Given the description of an element on the screen output the (x, y) to click on. 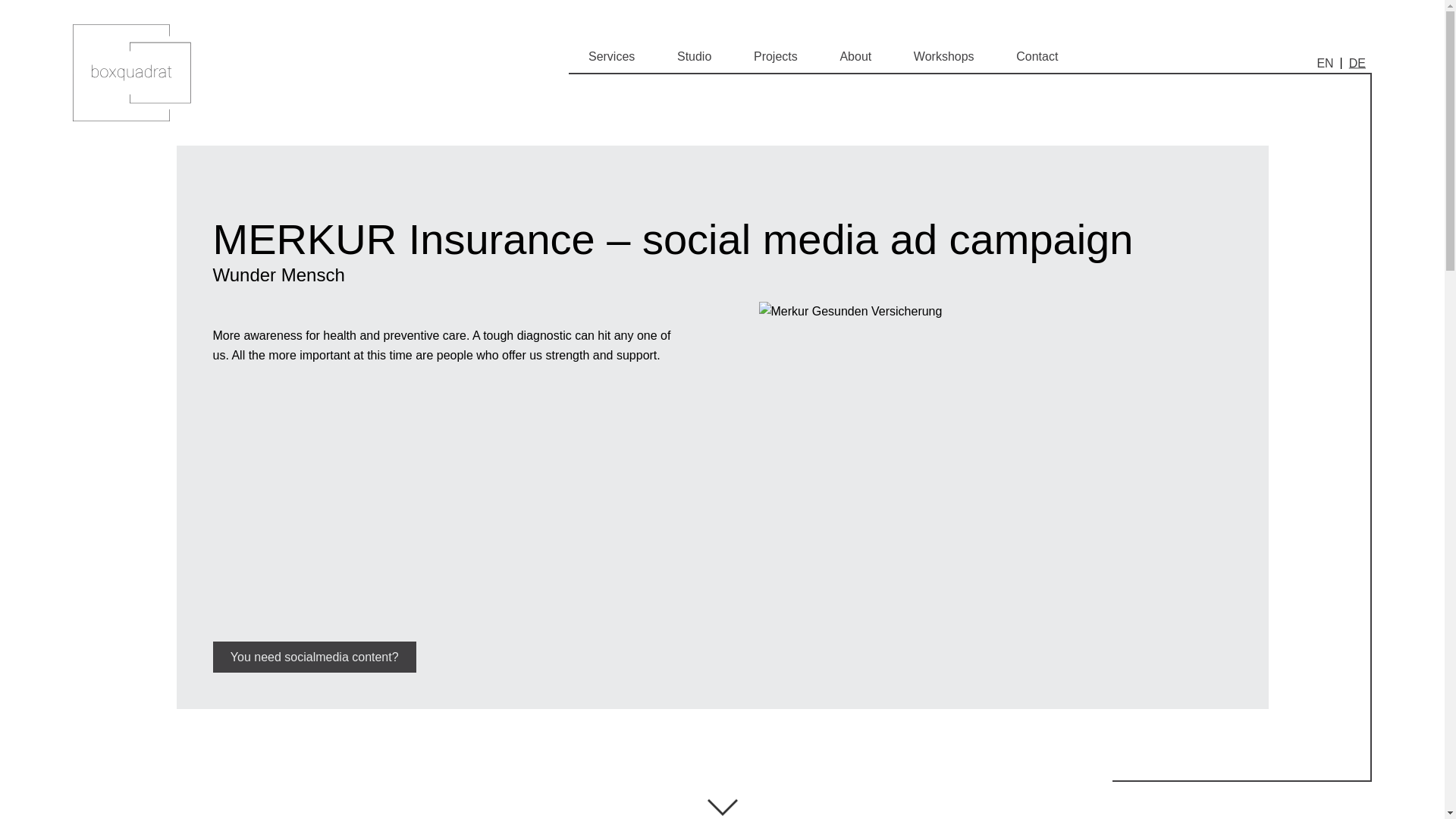
Contact (1037, 56)
Services (611, 56)
Studio (694, 56)
You need socialmedia content? (313, 656)
Workshops (942, 56)
About (856, 56)
DE (1356, 62)
Projects (774, 56)
